Given the description of an element on the screen output the (x, y) to click on. 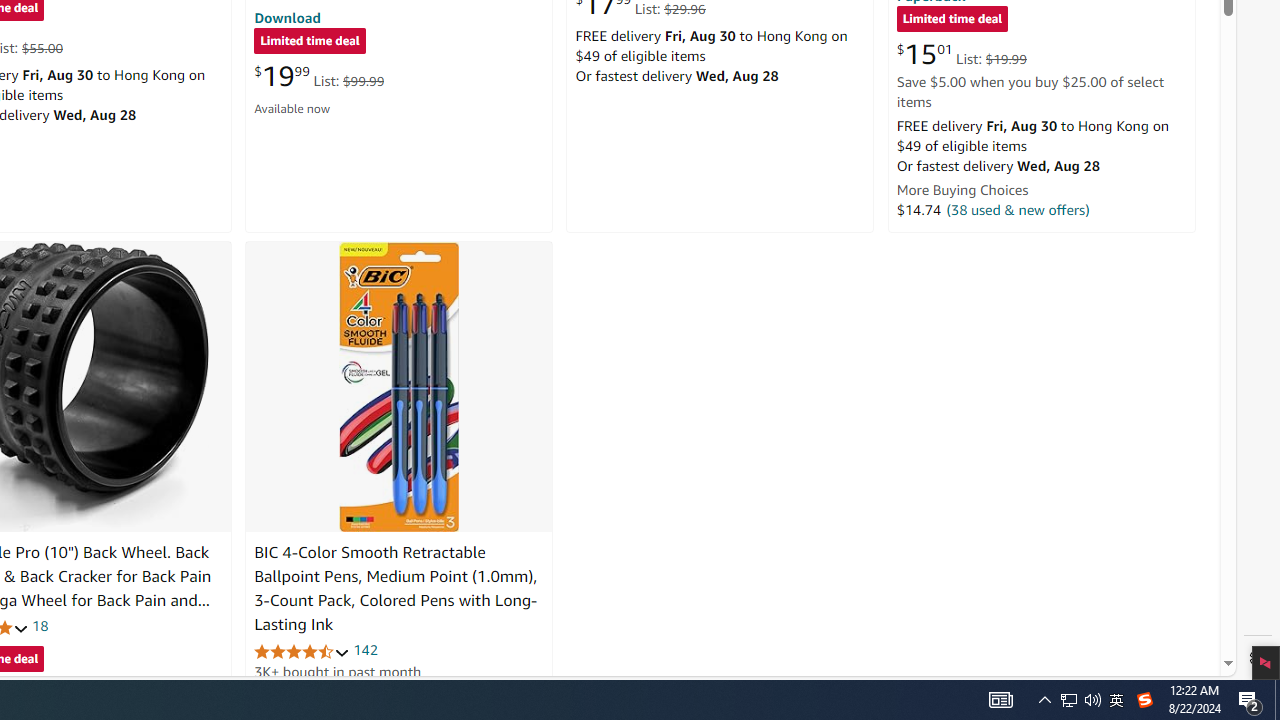
18 (40, 625)
142 (365, 650)
4.6 out of 5 stars (301, 650)
$19.99 List: $99.99 (319, 76)
(38 used & new offers) (1017, 209)
Limited time deal (952, 20)
Download (287, 17)
$15.01 List: $19.99 (961, 54)
